Given the description of an element on the screen output the (x, y) to click on. 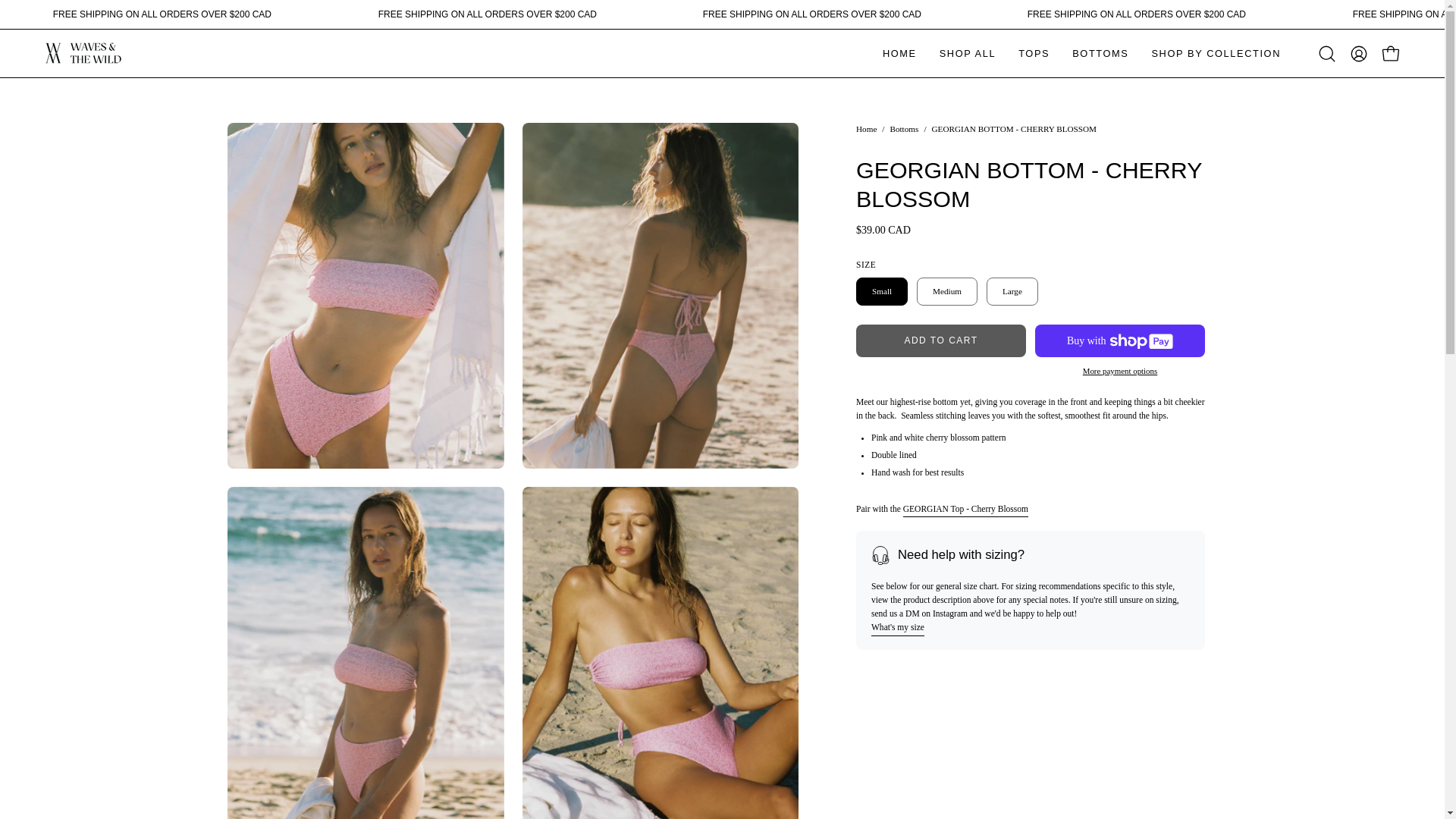
Go back to Home page (866, 129)
Open search bar (1326, 53)
Sizing Chart (897, 627)
GEORGIAN TOP - CHERRY BLOSSOM (964, 508)
BOTTOMS (1100, 52)
TOPS (1034, 52)
HOME (899, 52)
SHOP BY COLLECTION (1216, 52)
View Waves and the Wild on Instagram (238, 752)
SHOP ALL (967, 52)
